Given the description of an element on the screen output the (x, y) to click on. 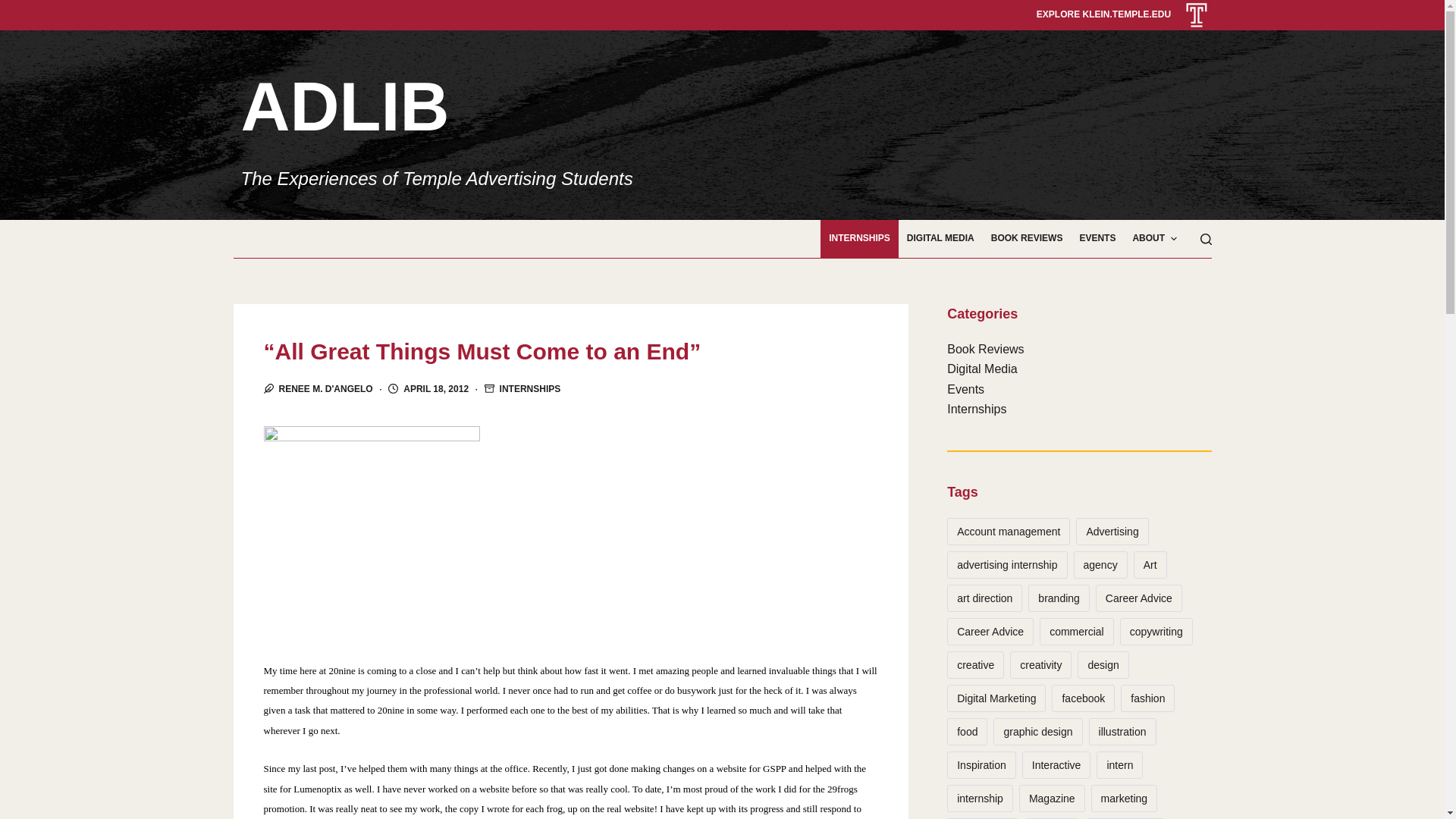
RENEE M. D'ANGELO (325, 388)
INTERNSHIPS (859, 238)
EXPLORE KLEIN.TEMPLE.EDU (1103, 14)
Skip to content (15, 7)
ADLIB (345, 106)
INTERNSHIPS (529, 388)
BOOK REVIEWS (1026, 238)
ABOUT (1154, 238)
DIGITAL MEDIA (940, 238)
Posts by Renee M. D'Angelo (325, 388)
